Given the description of an element on the screen output the (x, y) to click on. 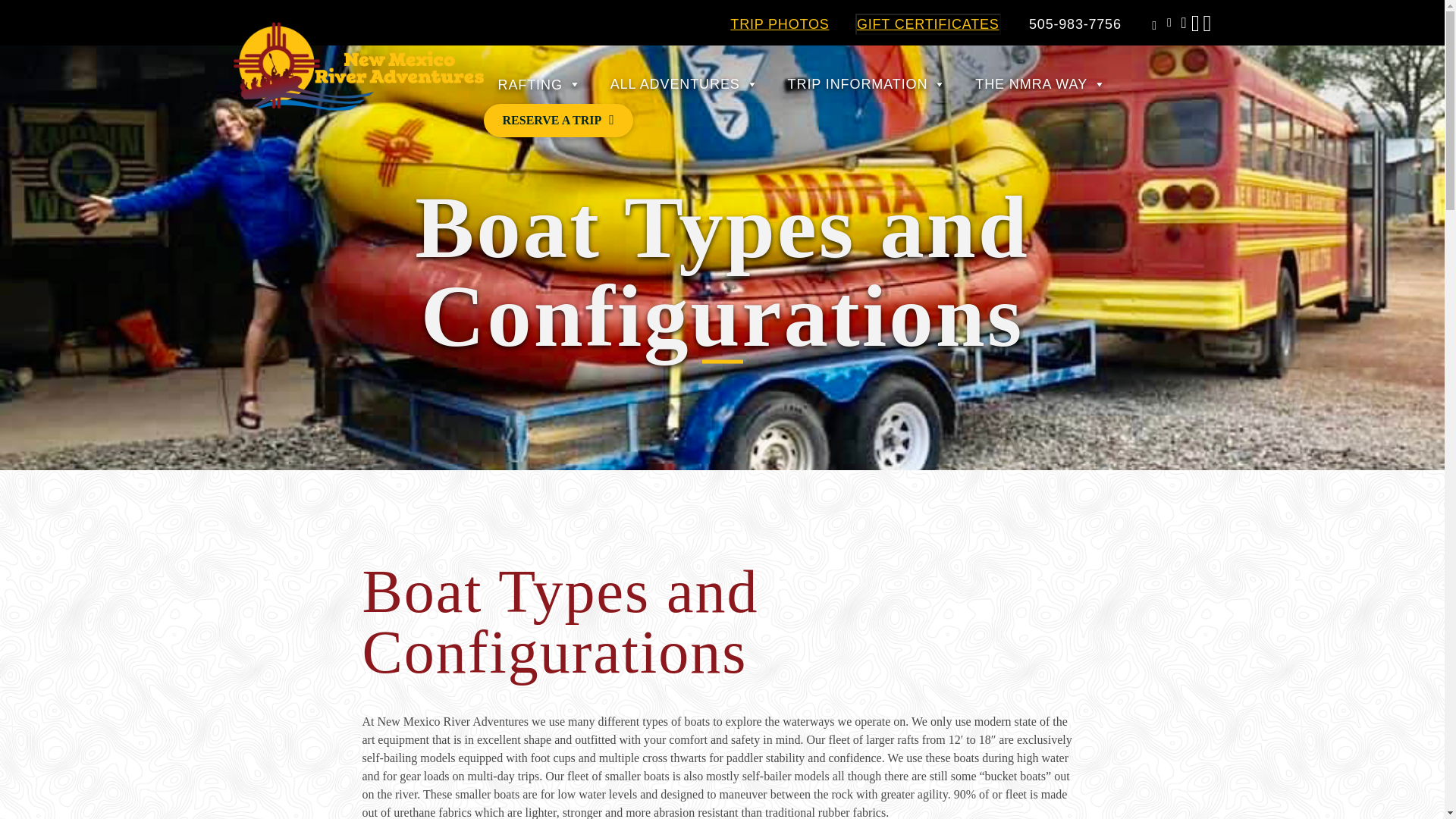
RAFTING (538, 85)
ALL ADVENTURES (684, 85)
505-983-7756 (1075, 23)
TRIP PHOTOS (779, 23)
GIFT CERTIFICATES (928, 24)
